Given the description of an element on the screen output the (x, y) to click on. 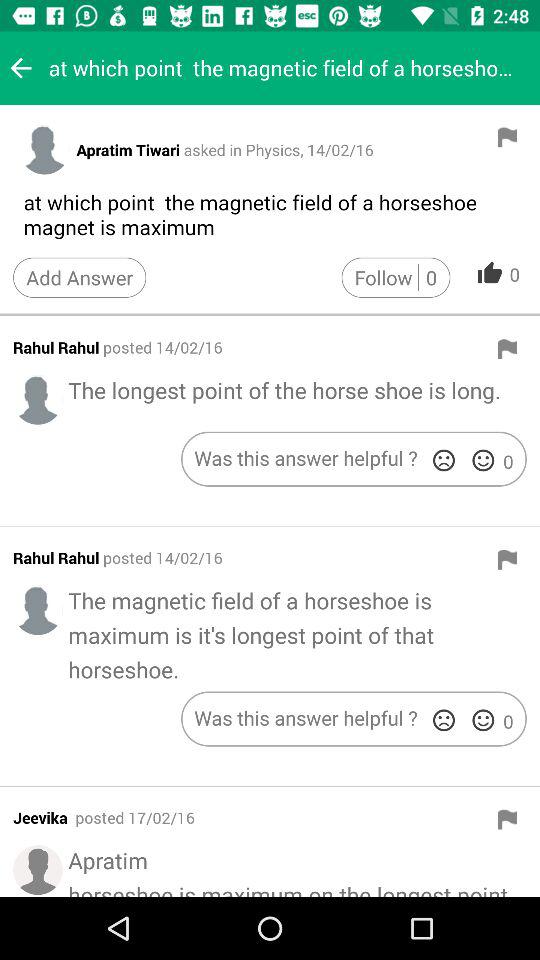
flag comment (507, 559)
